Given the description of an element on the screen output the (x, y) to click on. 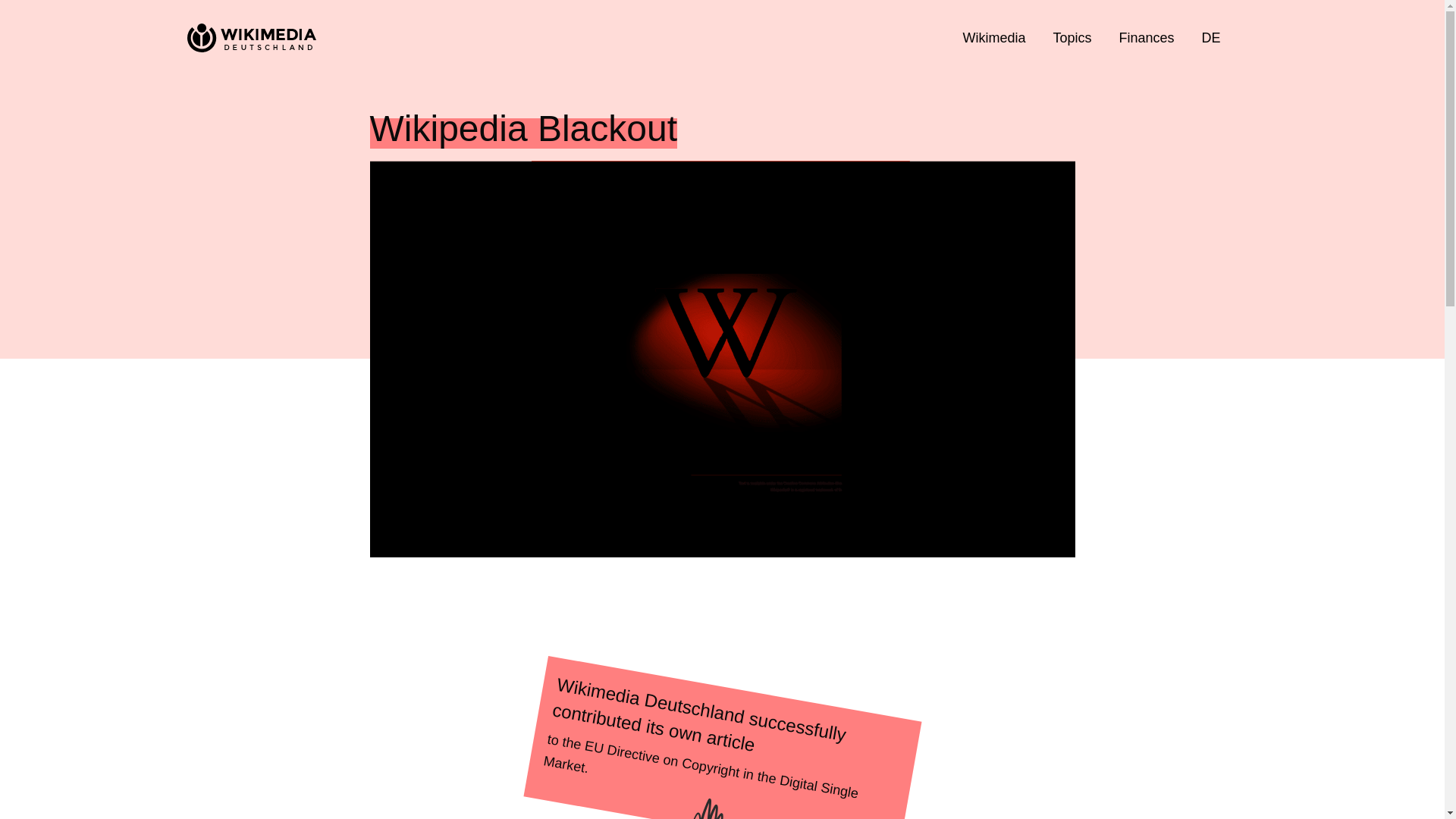
Wikimedia (994, 37)
Finances (1146, 37)
DE (1211, 37)
Topics (1072, 37)
